Given the description of an element on the screen output the (x, y) to click on. 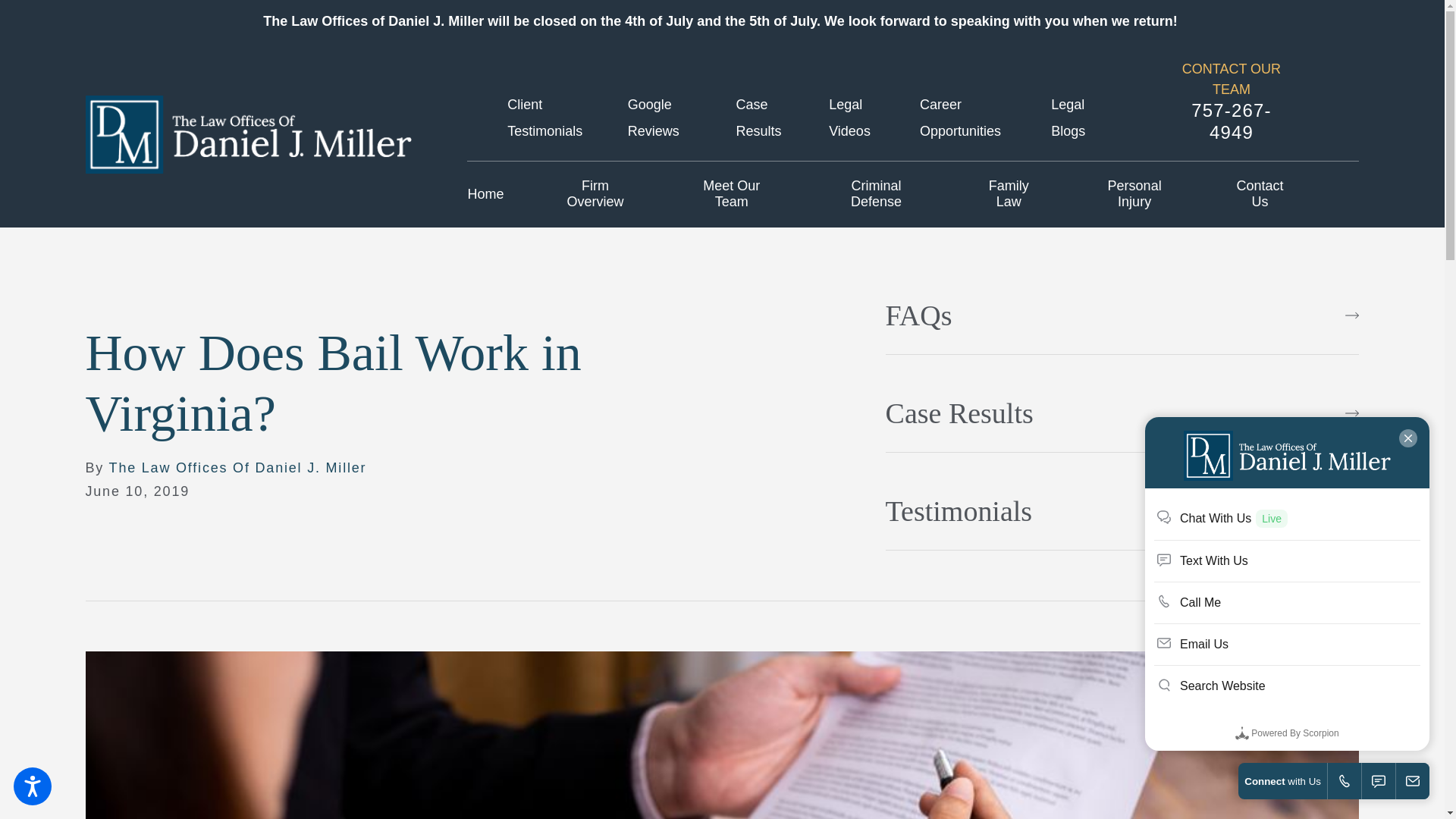
Firm Overview (595, 194)
Career Opportunities (960, 117)
Criminal Defense (875, 194)
Legal Blogs (1067, 117)
Case Results (758, 117)
757-267-4949 (1231, 121)
Legal Videos (849, 117)
Client Testimonials (544, 117)
Home (485, 194)
Meet Our Team (730, 194)
The Law Offices of Daniel J. Miller (247, 134)
Google Reviews (653, 117)
Open the accessibility options menu (31, 786)
